Given the description of an element on the screen output the (x, y) to click on. 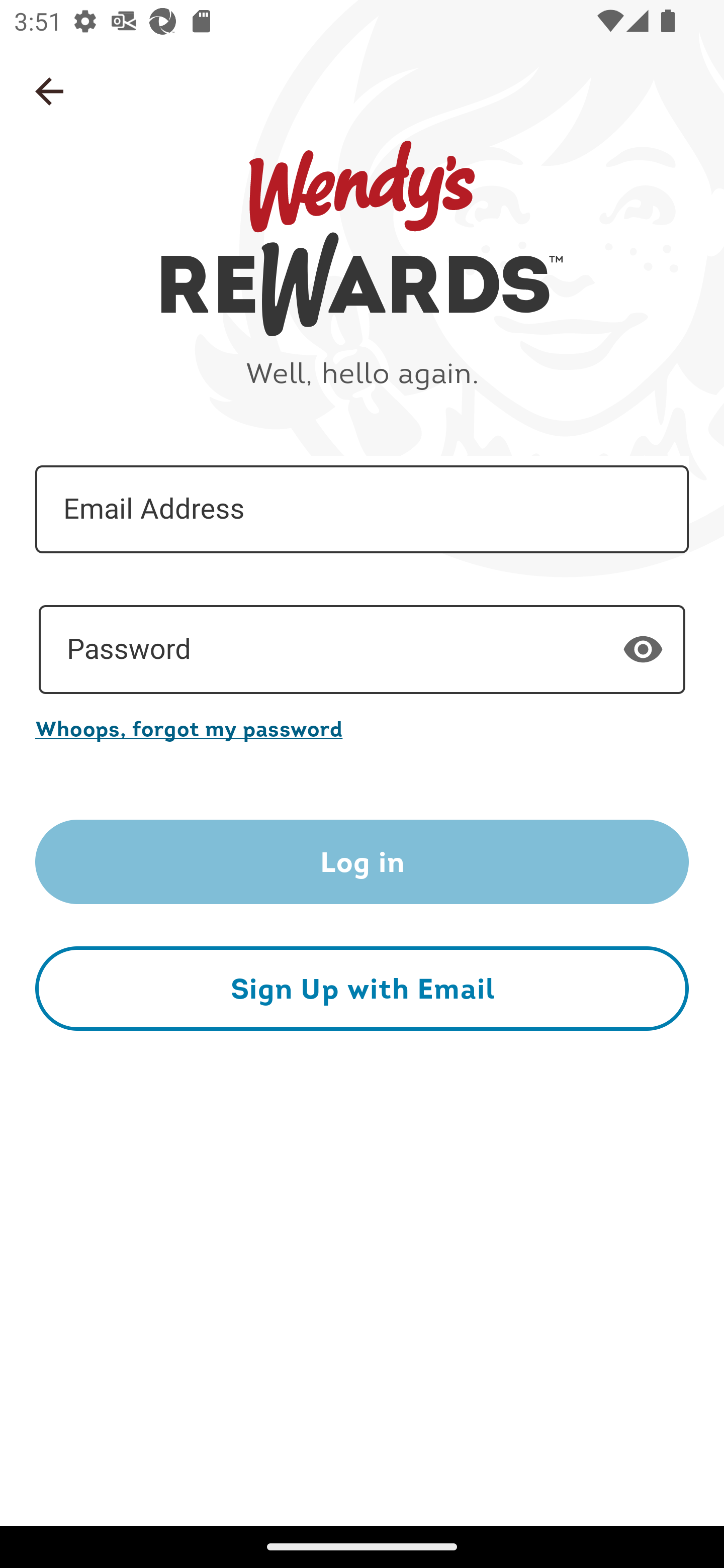
Navigate up (49, 91)
Email Address (361, 509)
Password (361, 649)
Show password (642, 648)
Whoops, forgot my password (361, 728)
Log in (361, 862)
Sign Up with Email (361, 988)
